Given the description of an element on the screen output the (x, y) to click on. 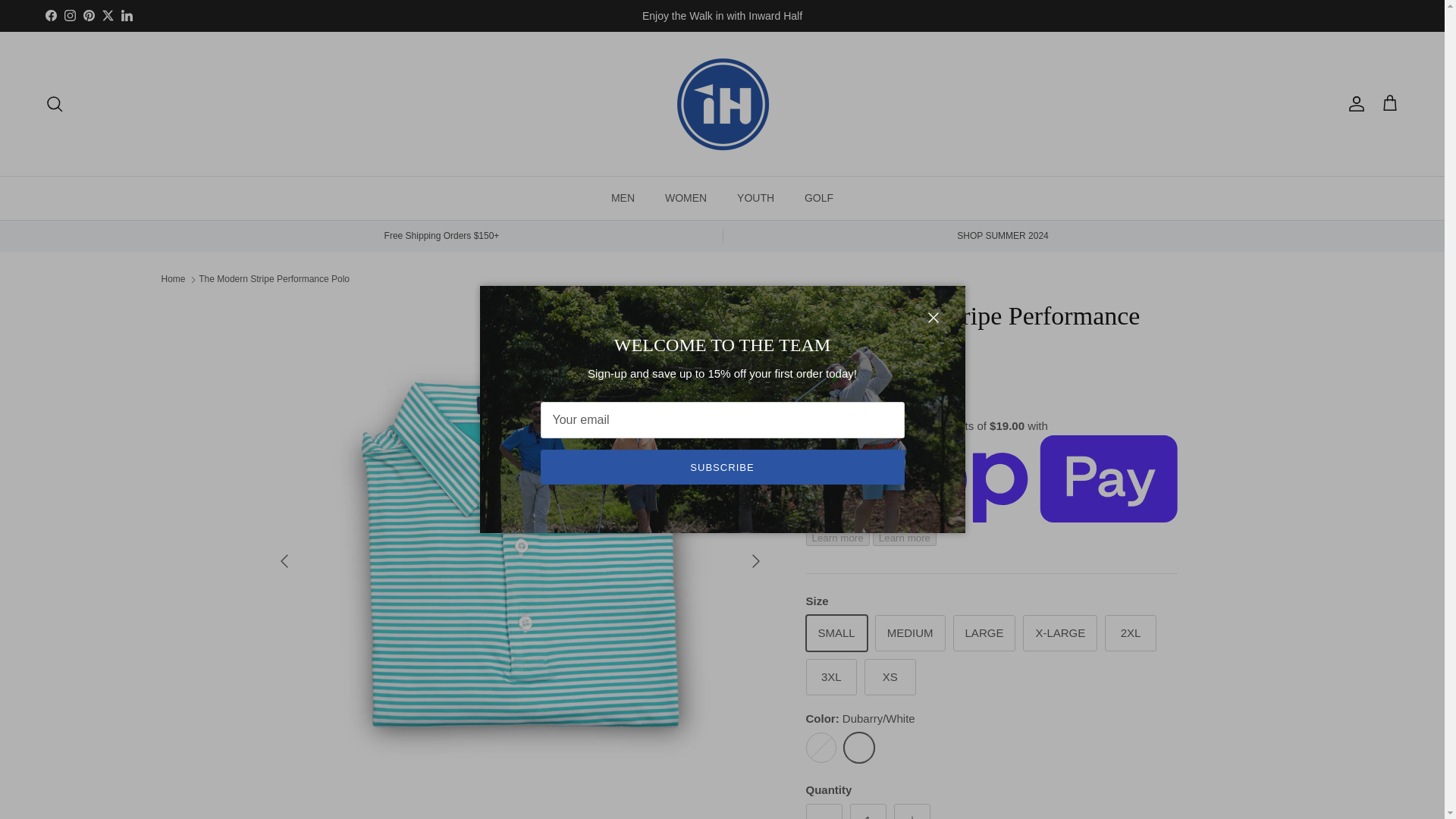
Account (1352, 104)
Inward Half  on LinkedIn (126, 15)
Search (54, 104)
Inward Half  on Facebook (50, 15)
GOLF (818, 198)
1 (866, 811)
Twitter (107, 15)
WOMEN (685, 198)
LinkedIn (126, 15)
Instagram (69, 15)
MEN (621, 198)
Pinterest (88, 15)
YOUTH (755, 198)
Cart (1389, 103)
Sold out (820, 747)
